Given the description of an element on the screen output the (x, y) to click on. 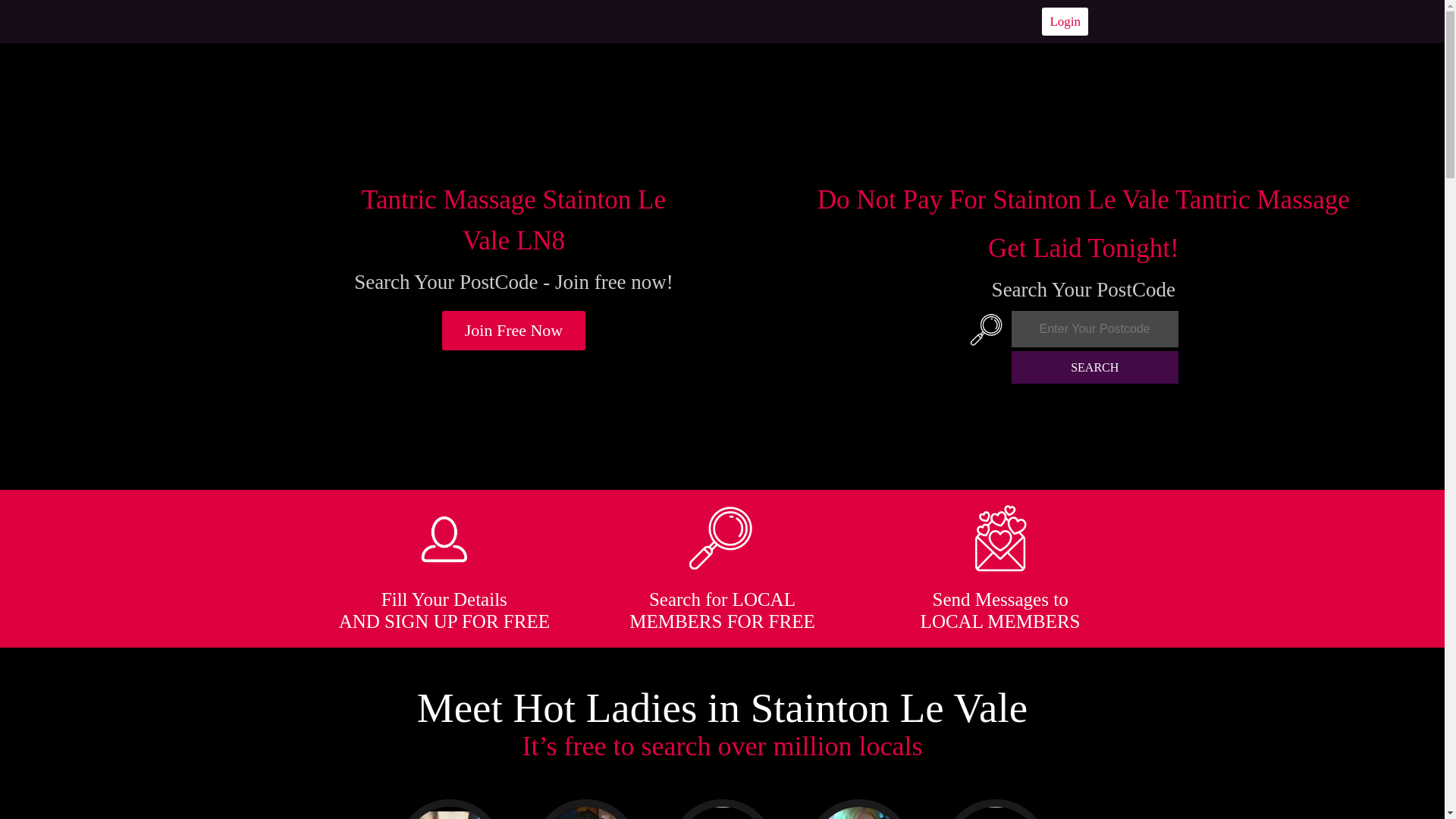
SEARCH (1094, 367)
Login (1064, 21)
Login (1064, 21)
Join (514, 330)
Join Free Now (514, 330)
